Given the description of an element on the screen output the (x, y) to click on. 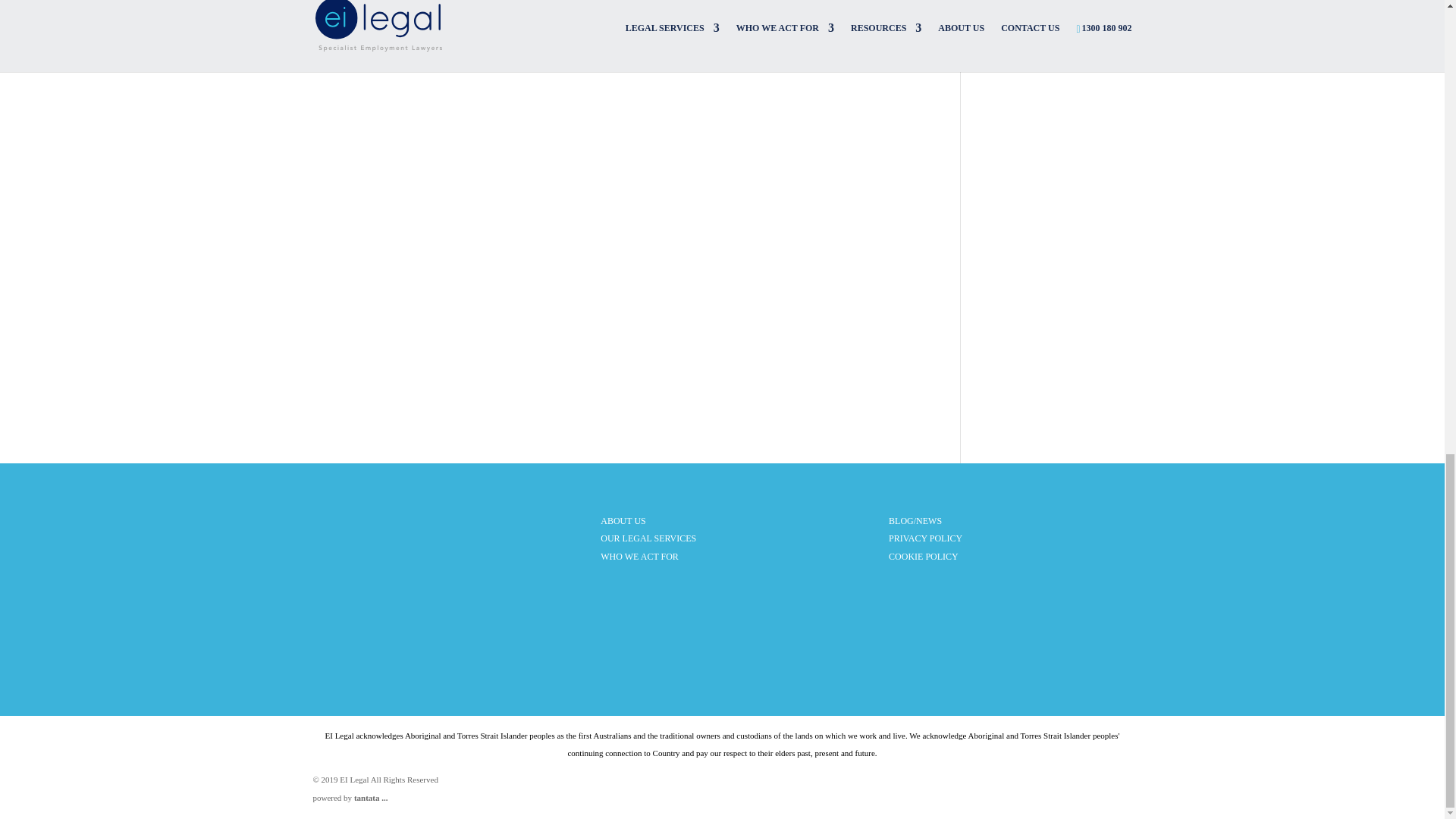
OUR LEGAL SERVICES (647, 538)
PRIVACY POLICY (925, 538)
ABOUT US (622, 520)
COOKIE POLICY (923, 556)
WHO WE ACT FOR (638, 556)
